Given the description of an element on the screen output the (x, y) to click on. 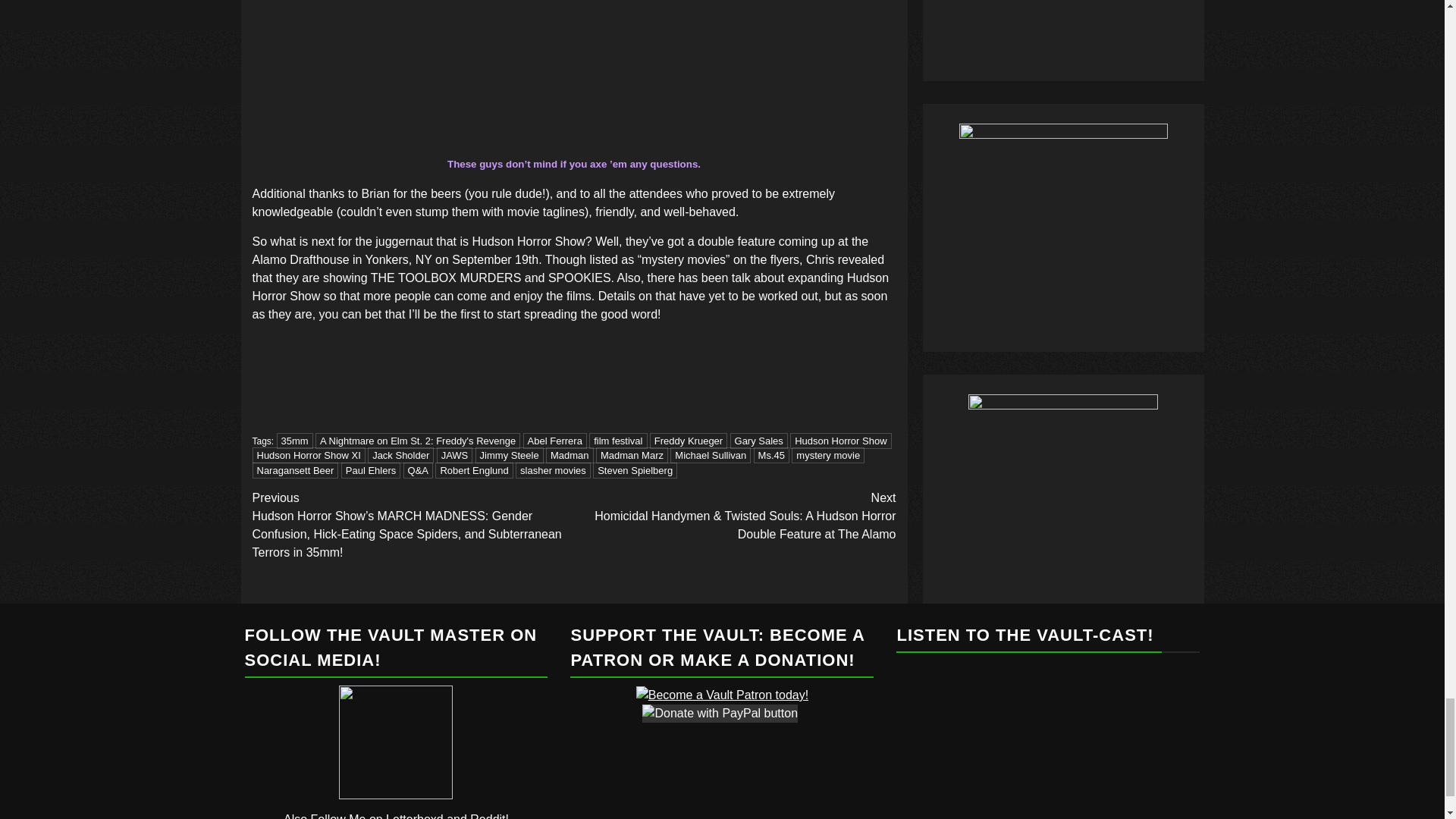
film festival (617, 440)
Hudson Horror Show XI (308, 455)
A Nightmare on Elm St. 2: Freddy's Revenge (417, 440)
35mm (294, 440)
Abel Ferrera (554, 440)
Gary Sales (758, 440)
Freddy Krueger (687, 440)
PayPal - The safer, easier way to pay online! (719, 713)
Hudson Horror Show (840, 440)
